Given the description of an element on the screen output the (x, y) to click on. 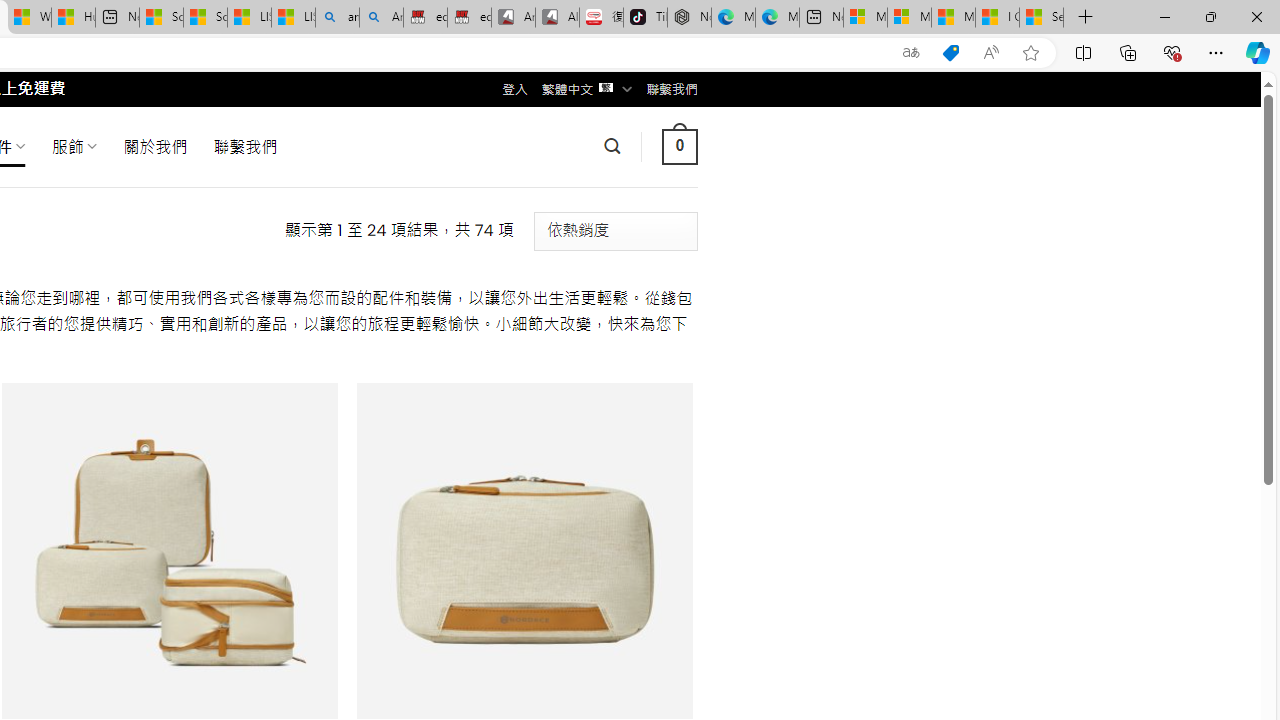
This site has coupons! Shopping in Microsoft Edge (950, 53)
All Cubot phones (557, 17)
Nordace - Best Sellers (689, 17)
